Given the description of an element on the screen output the (x, y) to click on. 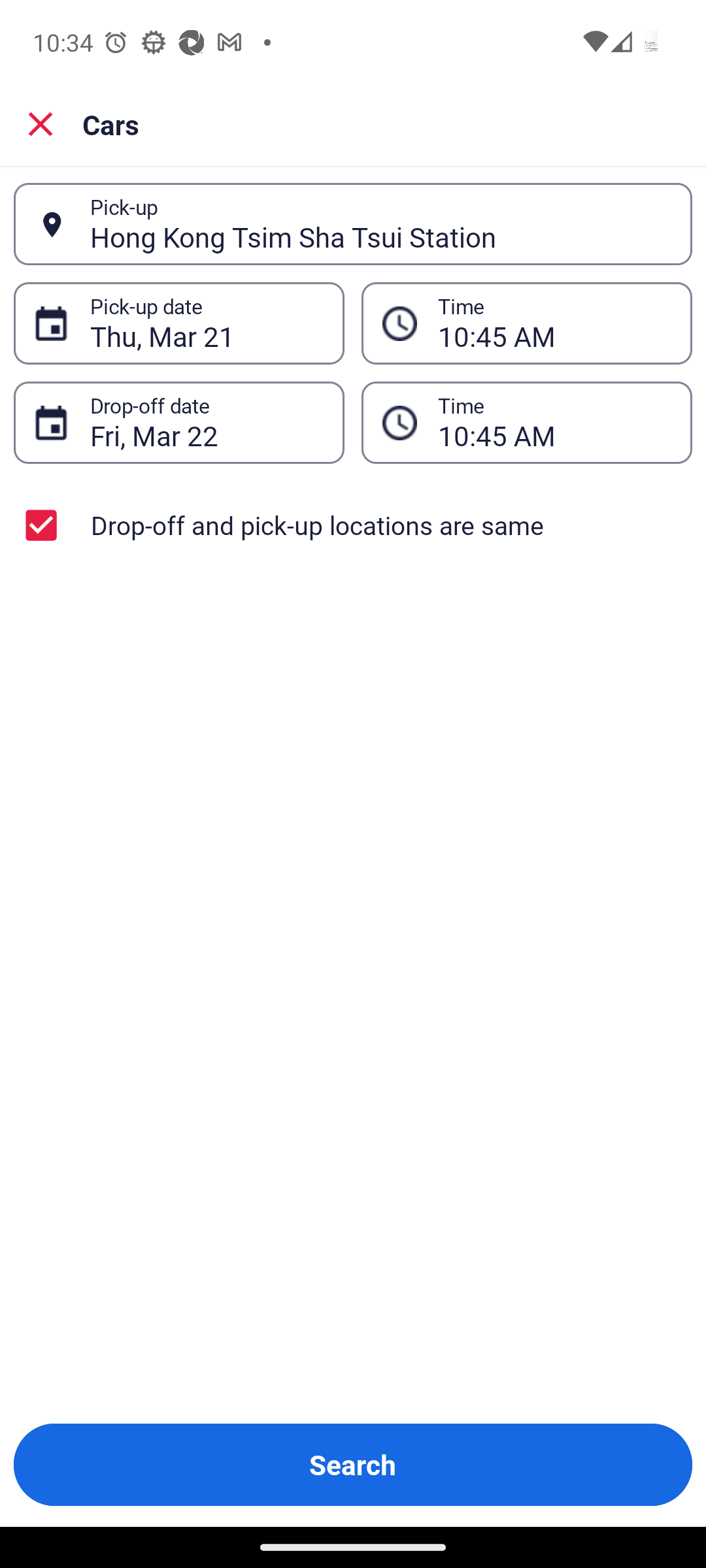
Close search screen (41, 124)
Hong Kong Tsim Sha Tsui Station (380, 223)
Thu, Mar 21 (206, 322)
10:45 AM (554, 322)
Fri, Mar 22 (206, 423)
10:45 AM (554, 423)
Drop-off and pick-up locations are same (352, 525)
Search Button Search (352, 1464)
